Given the description of an element on the screen output the (x, y) to click on. 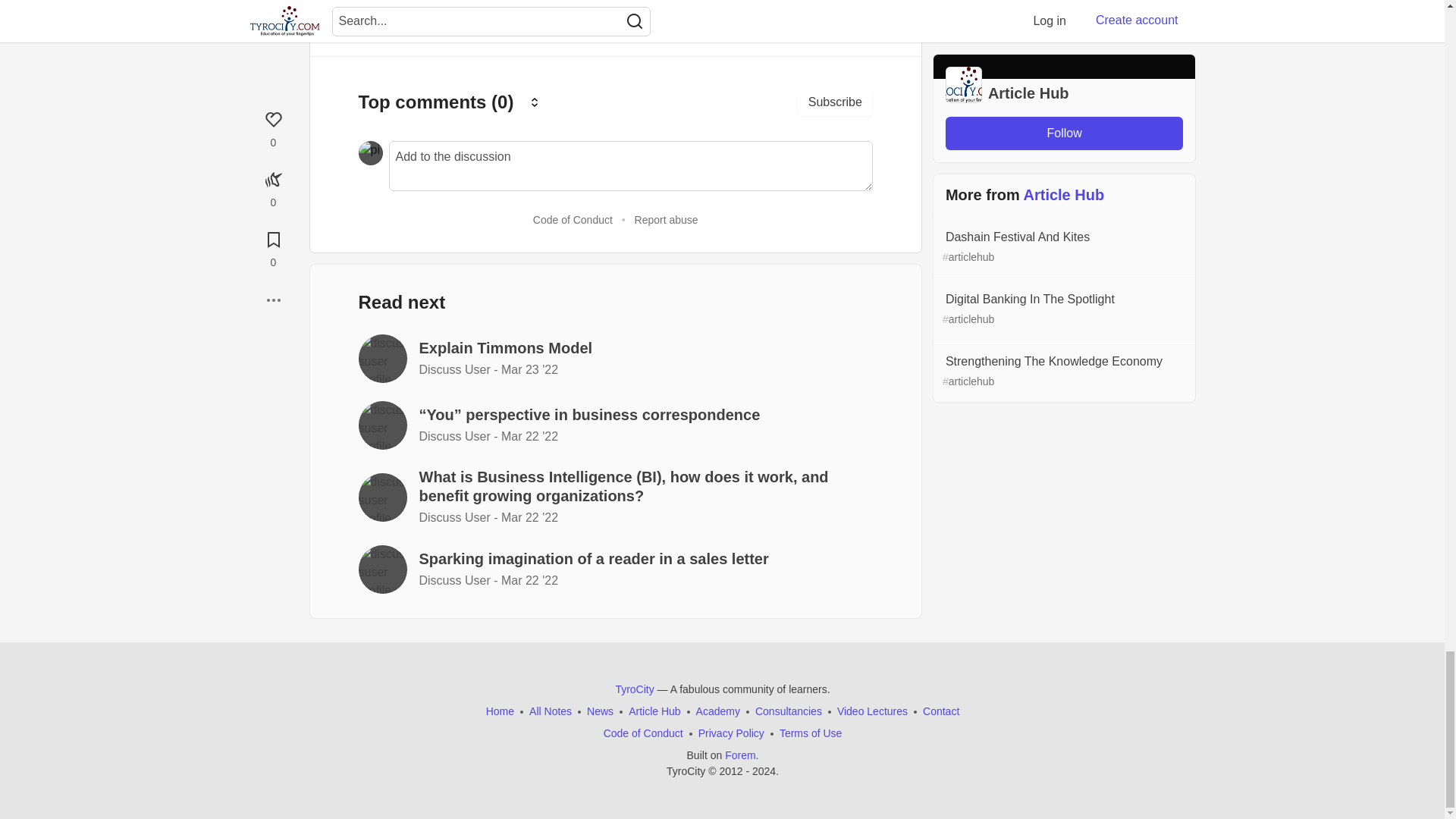
Crown (534, 101)
Report abuse (666, 219)
Code of Conduct (572, 219)
Crown (534, 102)
